Given the description of an element on the screen output the (x, y) to click on. 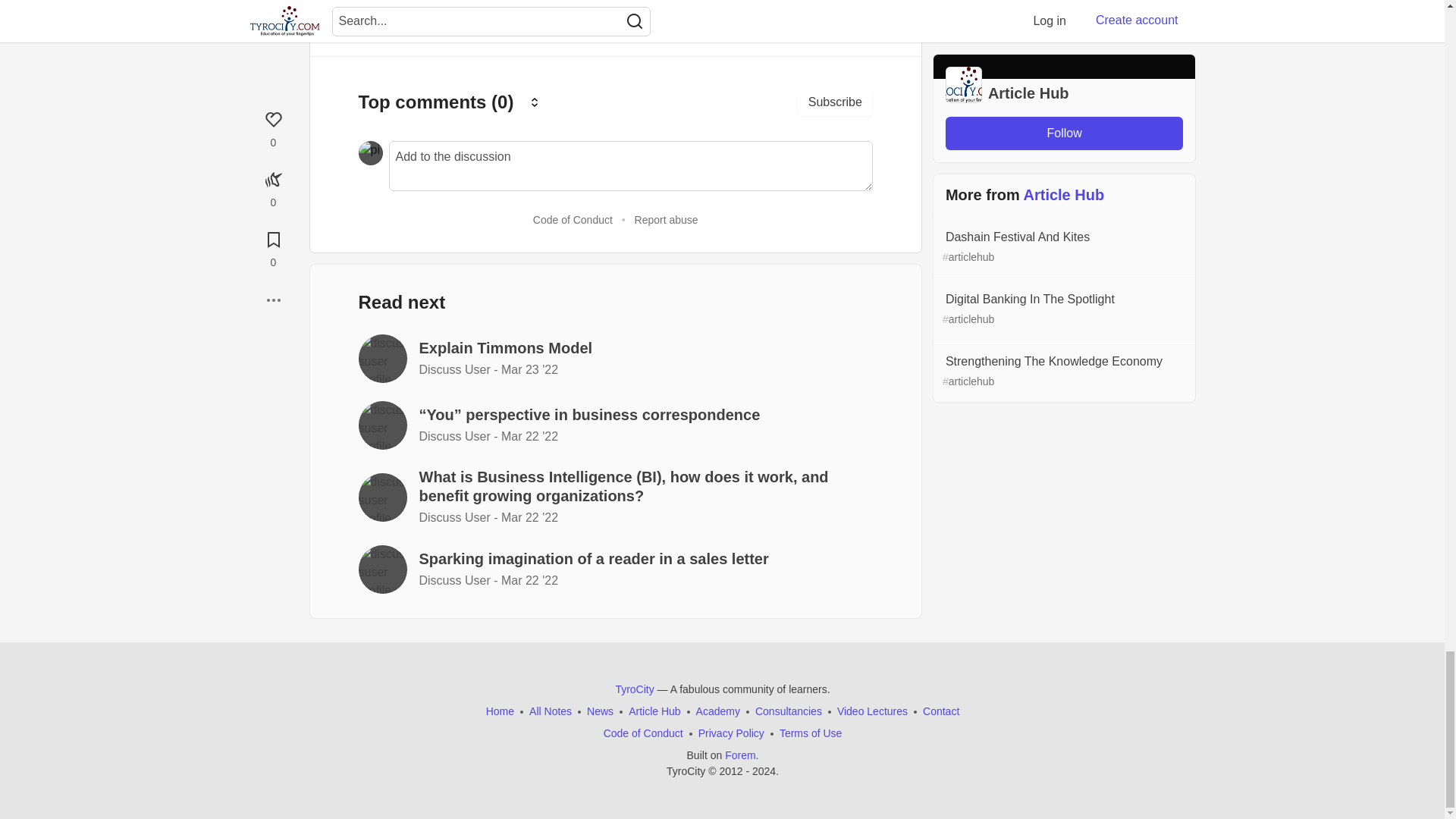
Crown (534, 101)
Report abuse (666, 219)
Code of Conduct (572, 219)
Crown (534, 102)
